Given the description of an element on the screen output the (x, y) to click on. 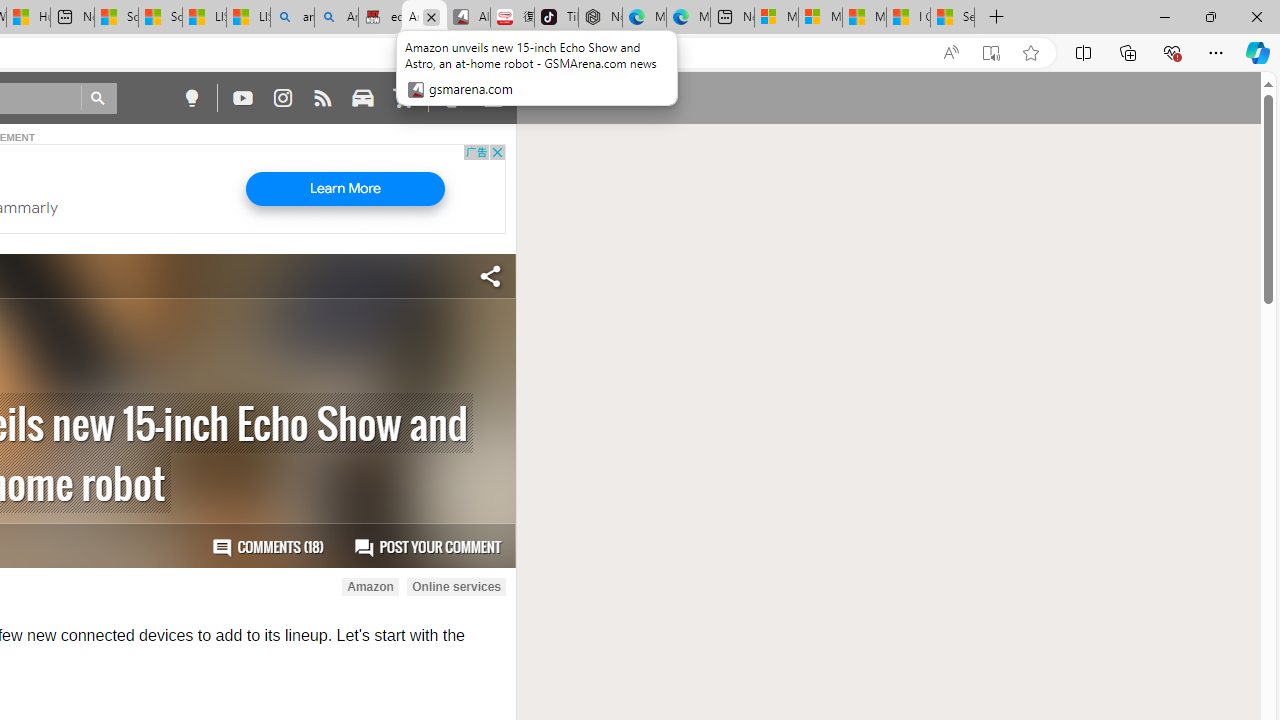
Amazon (370, 587)
Go (98, 97)
Learn More (344, 189)
TikTok (556, 17)
